Given the description of an element on the screen output the (x, y) to click on. 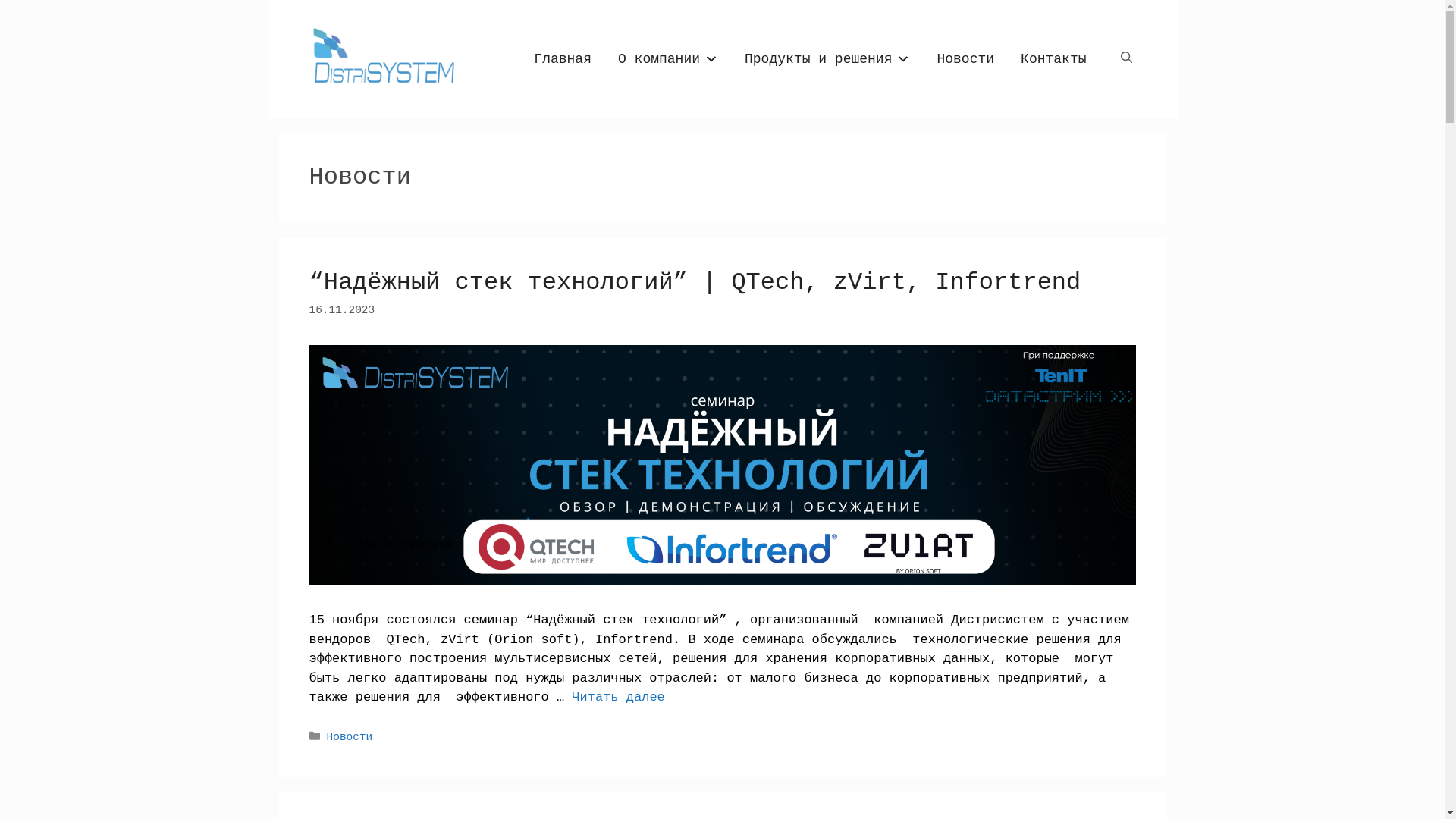
distrisystem.by Element type: hover (380, 58)
